Given the description of an element on the screen output the (x, y) to click on. 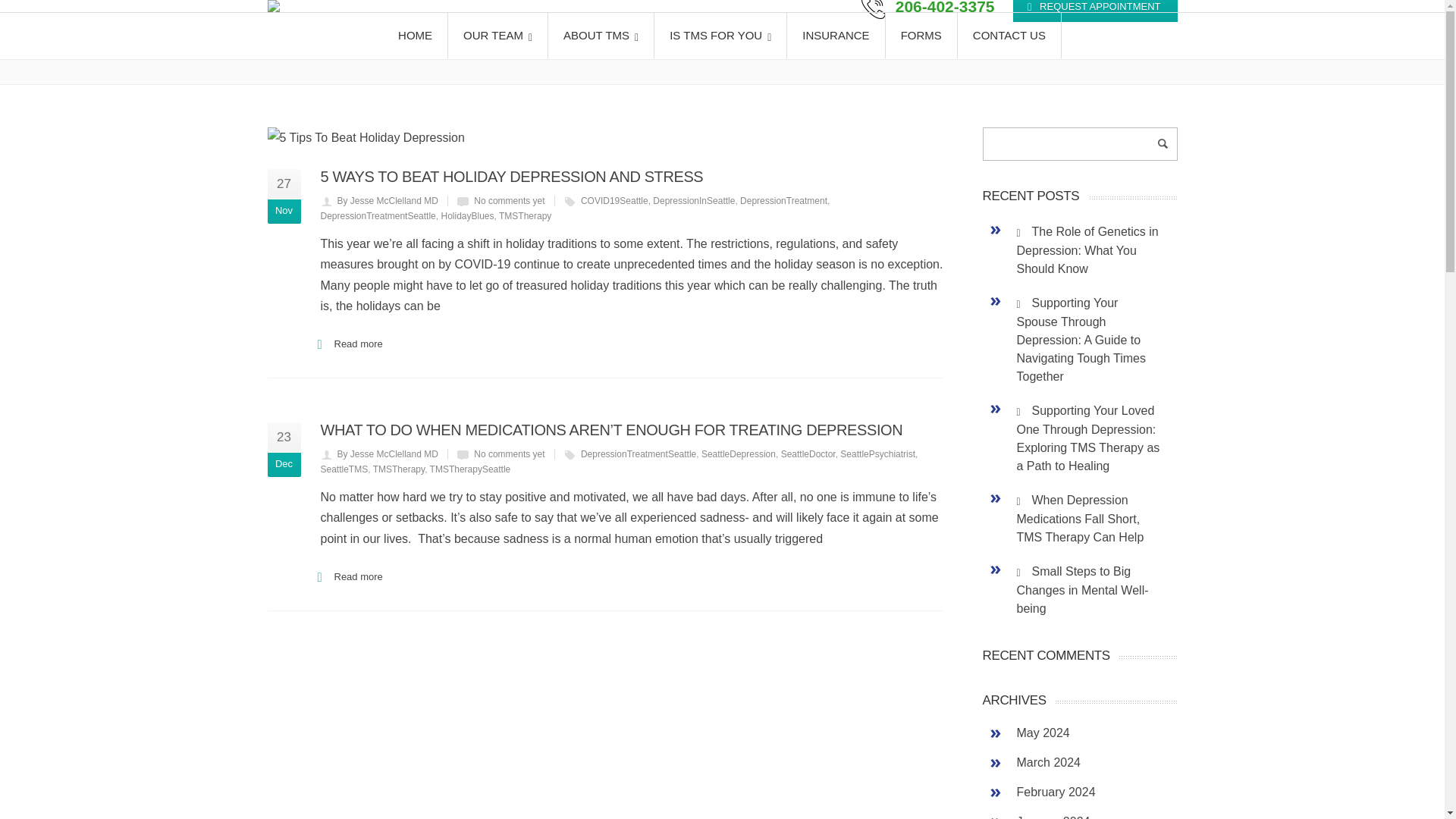
IS TMS FOR YOU (720, 35)
FORMS (921, 35)
REQUEST APPOINTMENT (1095, 11)
OUR TEAM (498, 35)
Home (1009, 41)
Permalink to 5 Ways to Beat Holiday Depression and Stress (511, 176)
HOME (415, 35)
INSURANCE (836, 35)
206-402-3375 (927, 11)
5 Ways to Beat Holiday Depression and Stress (604, 137)
